Given the description of an element on the screen output the (x, y) to click on. 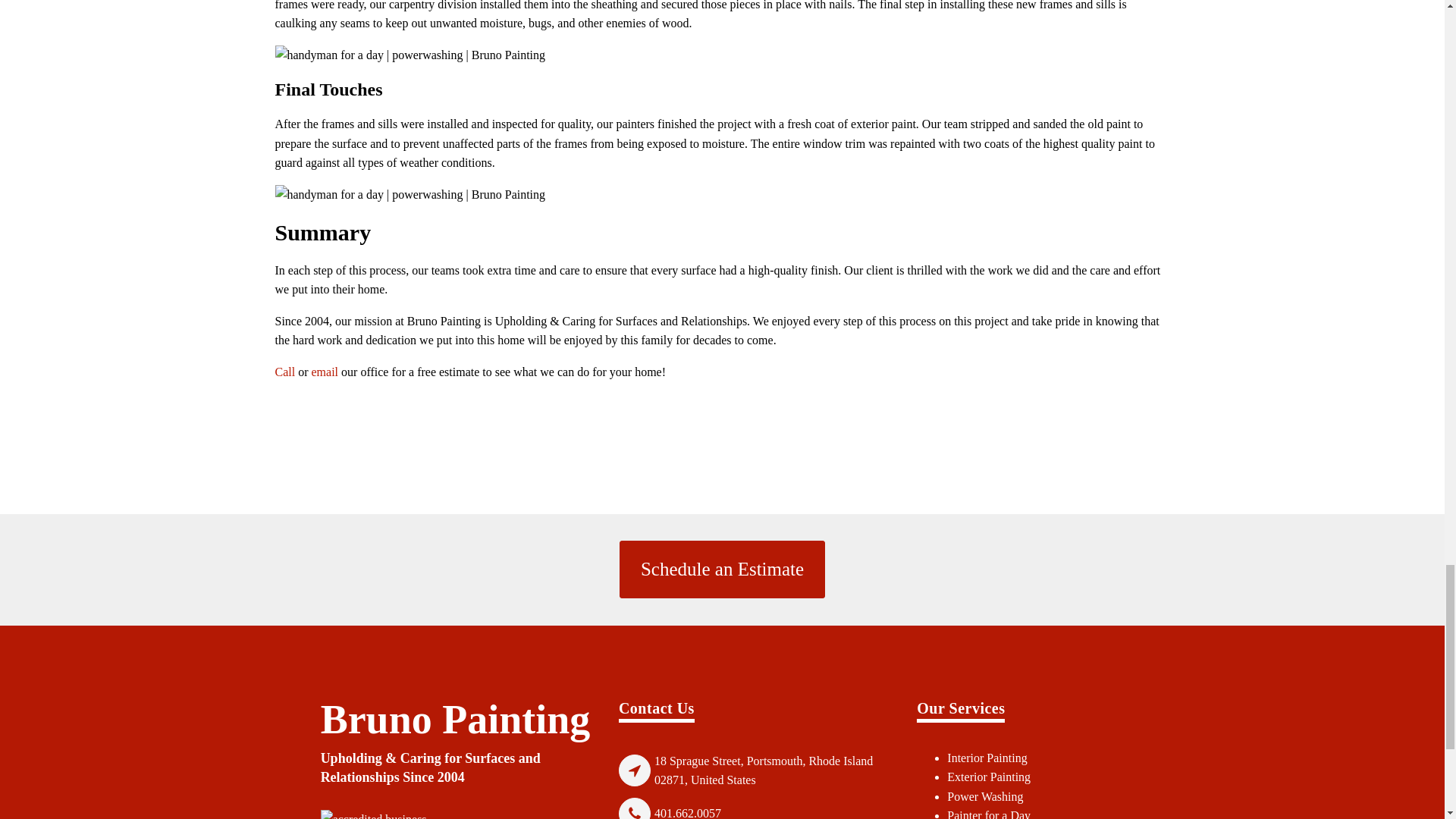
401.662.0057 (687, 811)
Exterior Painting (988, 776)
Schedule an Estimate (722, 569)
Call (285, 371)
email (324, 371)
Interior Painting (986, 757)
